Given the description of an element on the screen output the (x, y) to click on. 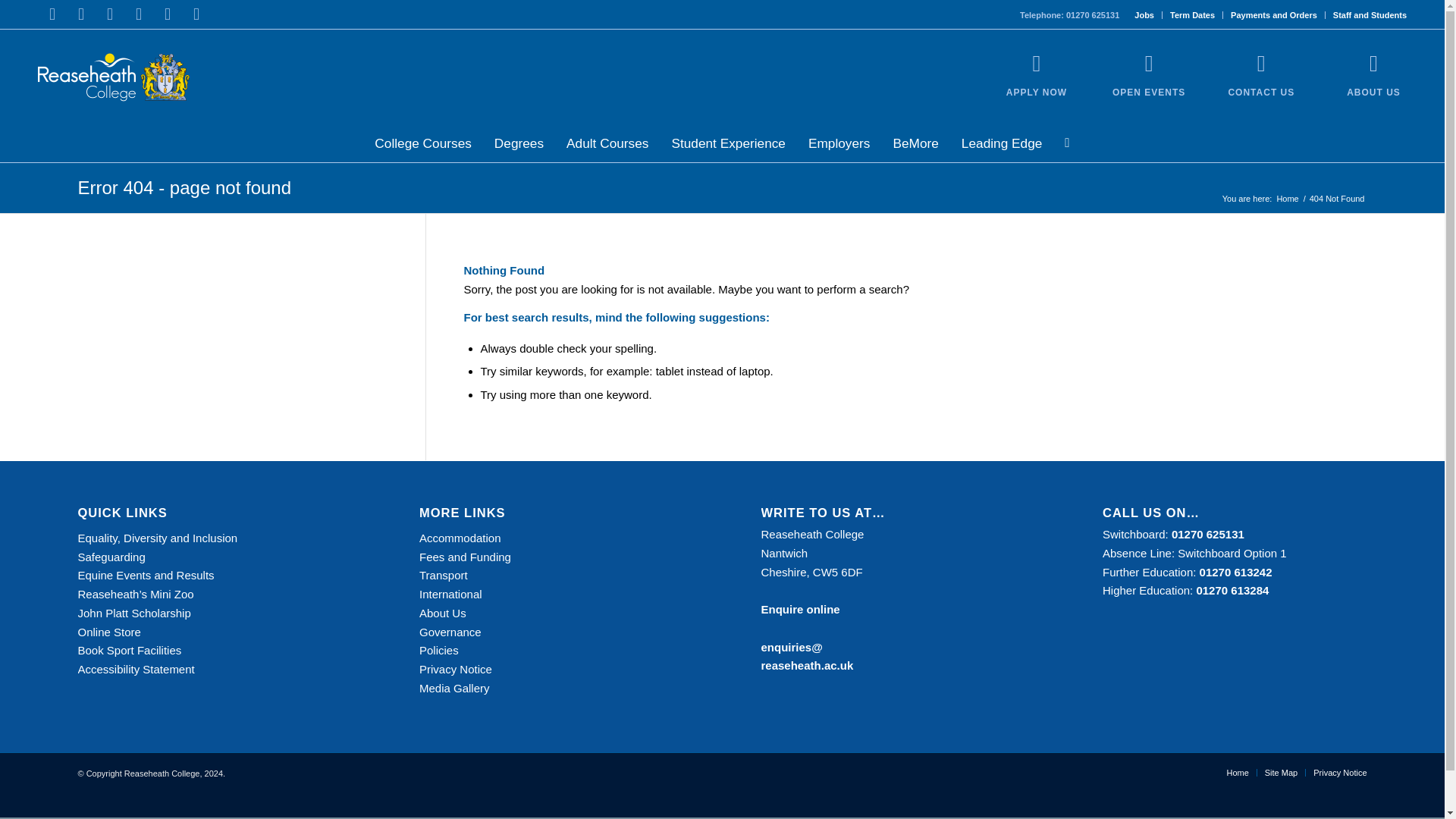
Degrees (518, 143)
Rss (196, 14)
Contact Us (1260, 63)
Payments and Orders (1273, 14)
BeMore (914, 143)
Instagram (109, 14)
reaseheath-logo-web-header-1 (113, 77)
X (81, 14)
APPLY NOW (1036, 91)
College Courses (422, 143)
